Given the description of an element on the screen output the (x, y) to click on. 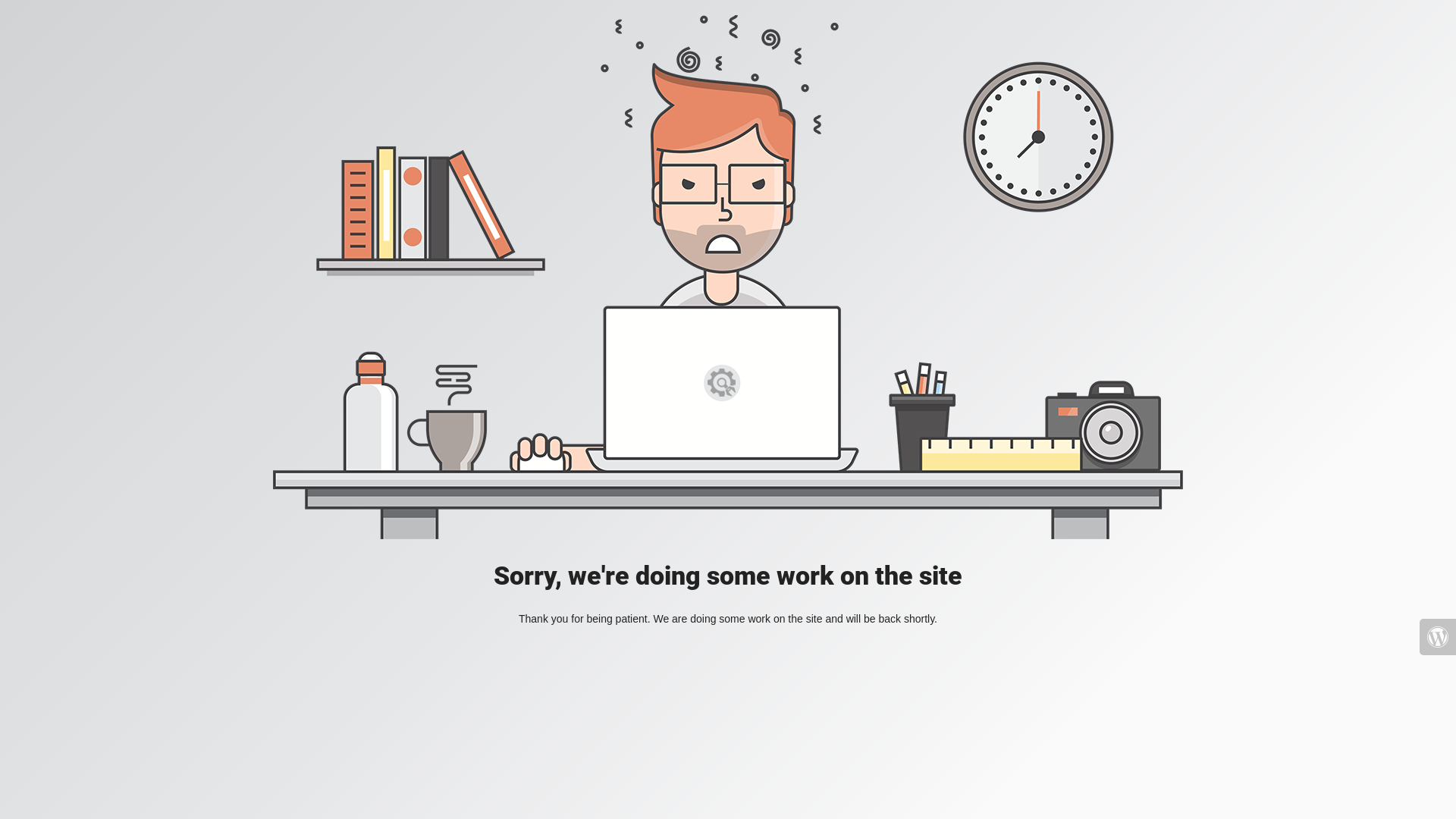
Mad Designer at work Element type: hover (728, 277)
